Given the description of an element on the screen output the (x, y) to click on. 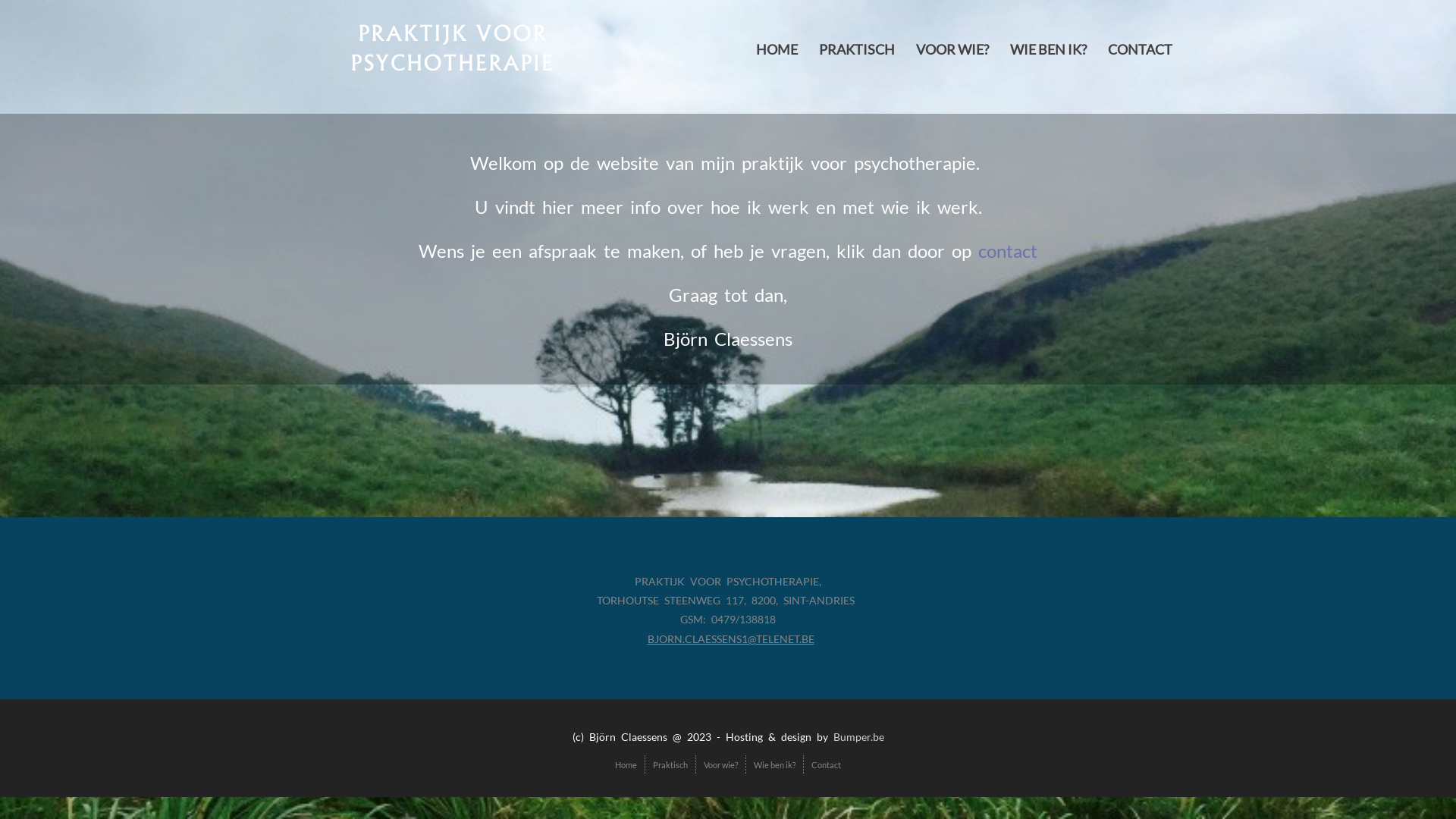
WIE BEN IK? Element type: text (1048, 49)
CONTACT Element type: text (1140, 49)
HOME Element type: text (776, 49)
Contact Element type: text (825, 764)
Home Element type: text (626, 764)
BJORN.CLAESSENS1@TELENET.BE Element type: text (730, 638)
Bumper.be Element type: text (857, 736)
Wie ben ik? Element type: text (774, 764)
PRAKTISCH Element type: text (856, 49)
Praktisch Element type: text (670, 764)
contact Element type: text (1007, 250)
Voor wie? Element type: text (721, 764)
VOOR WIE? Element type: text (952, 49)
